Given the description of an element on the screen output the (x, y) to click on. 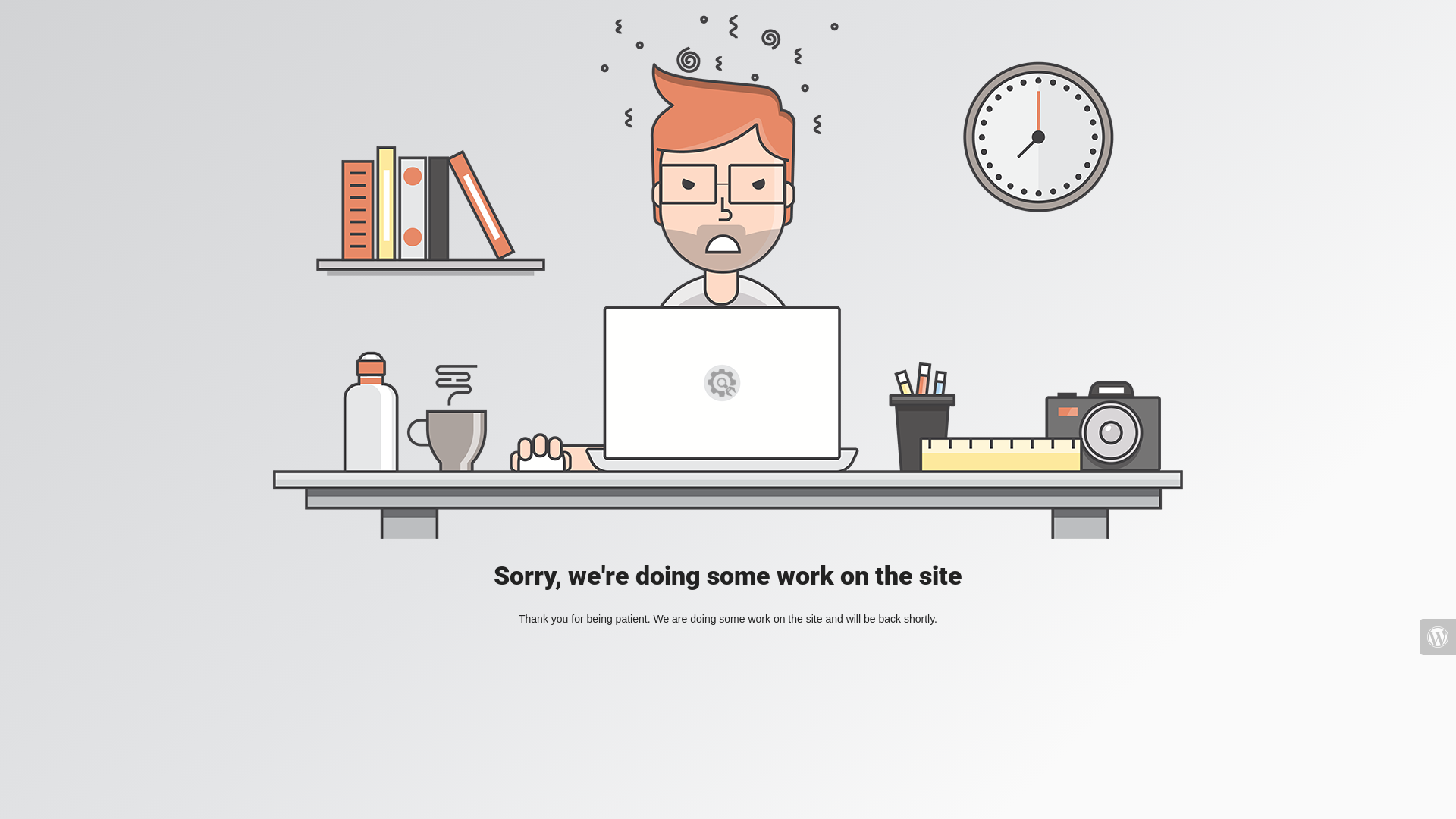
Mad Designer at work Element type: hover (728, 277)
